Given the description of an element on the screen output the (x, y) to click on. 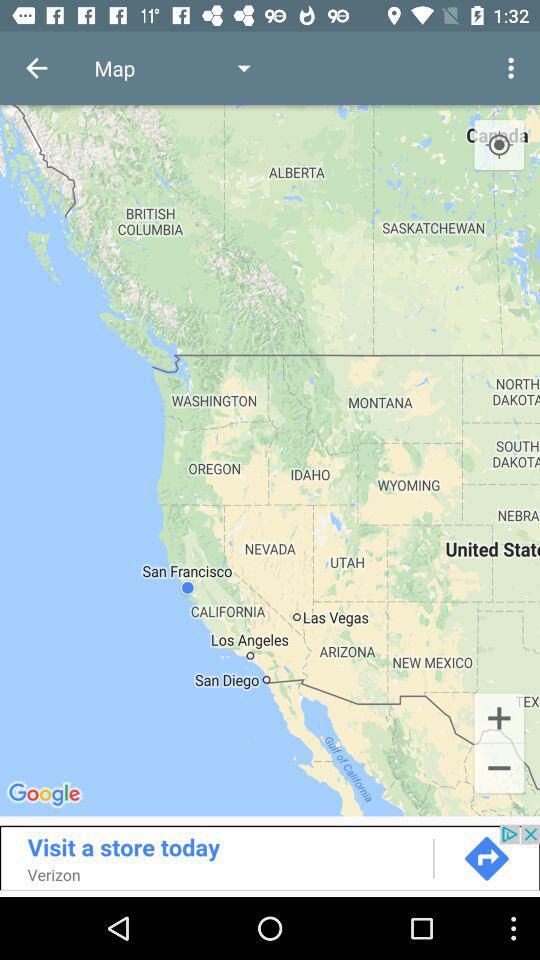
open advertisement (270, 857)
